Given the description of an element on the screen output the (x, y) to click on. 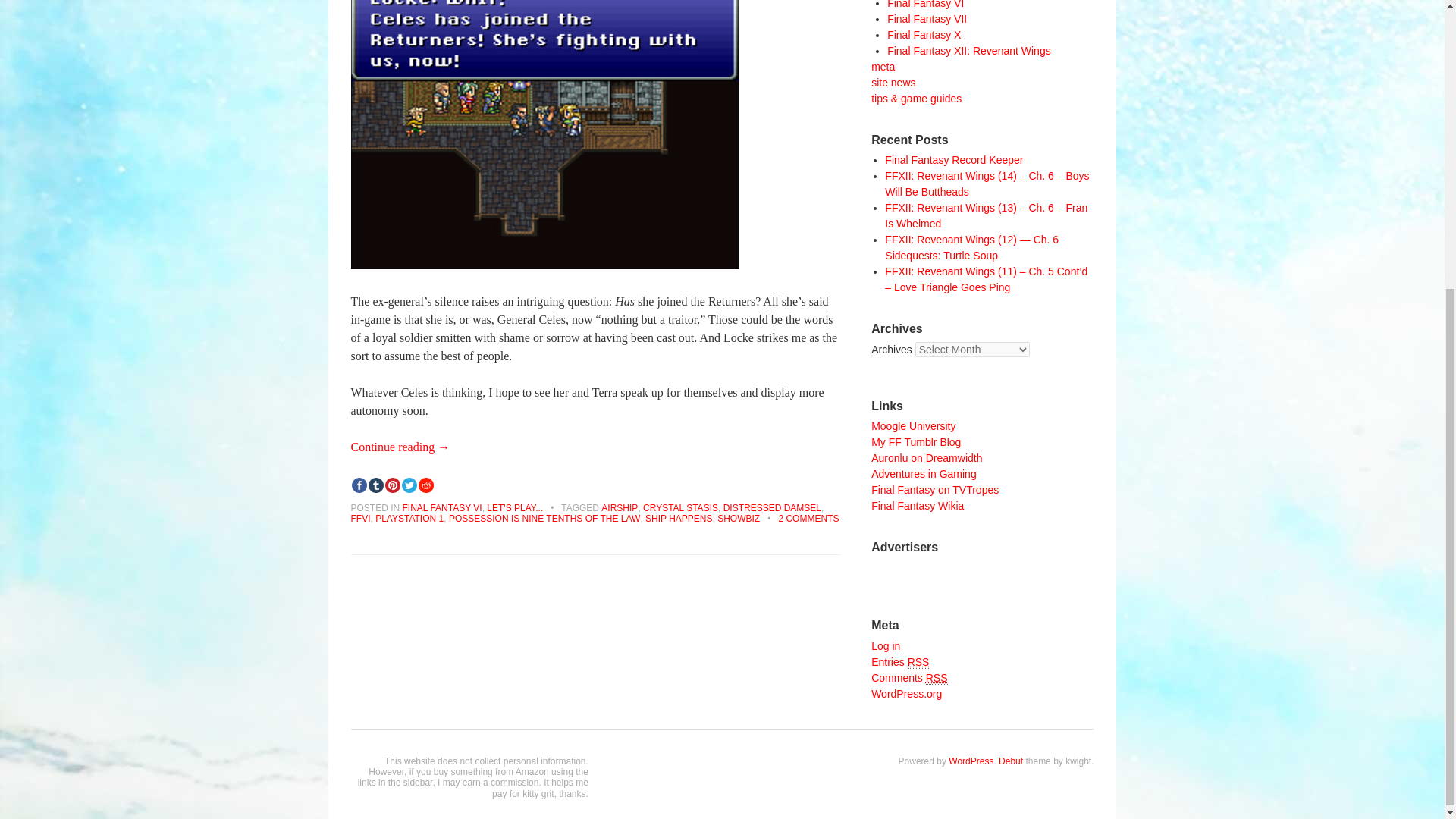
FFVI (359, 518)
Twitter (408, 484)
SHOWBIZ (738, 518)
Warning: You WILL waste hours on this site. (934, 490)
CRYSTAL STASIS (680, 507)
My fandom journal on Dreamwidth (925, 458)
DISTRESSED DAMSEL (772, 507)
SHIP HAPPENS (678, 518)
2 COMMENTS (807, 518)
PLAYSTATION 1 (409, 518)
tumblr (375, 484)
Facebook (358, 484)
POSSESSION IS NINE TENTHS OF THE LAW (544, 518)
LET'S PLAY... (514, 507)
Your source for all things Final Fantasy (916, 505)
